Given the description of an element on the screen output the (x, y) to click on. 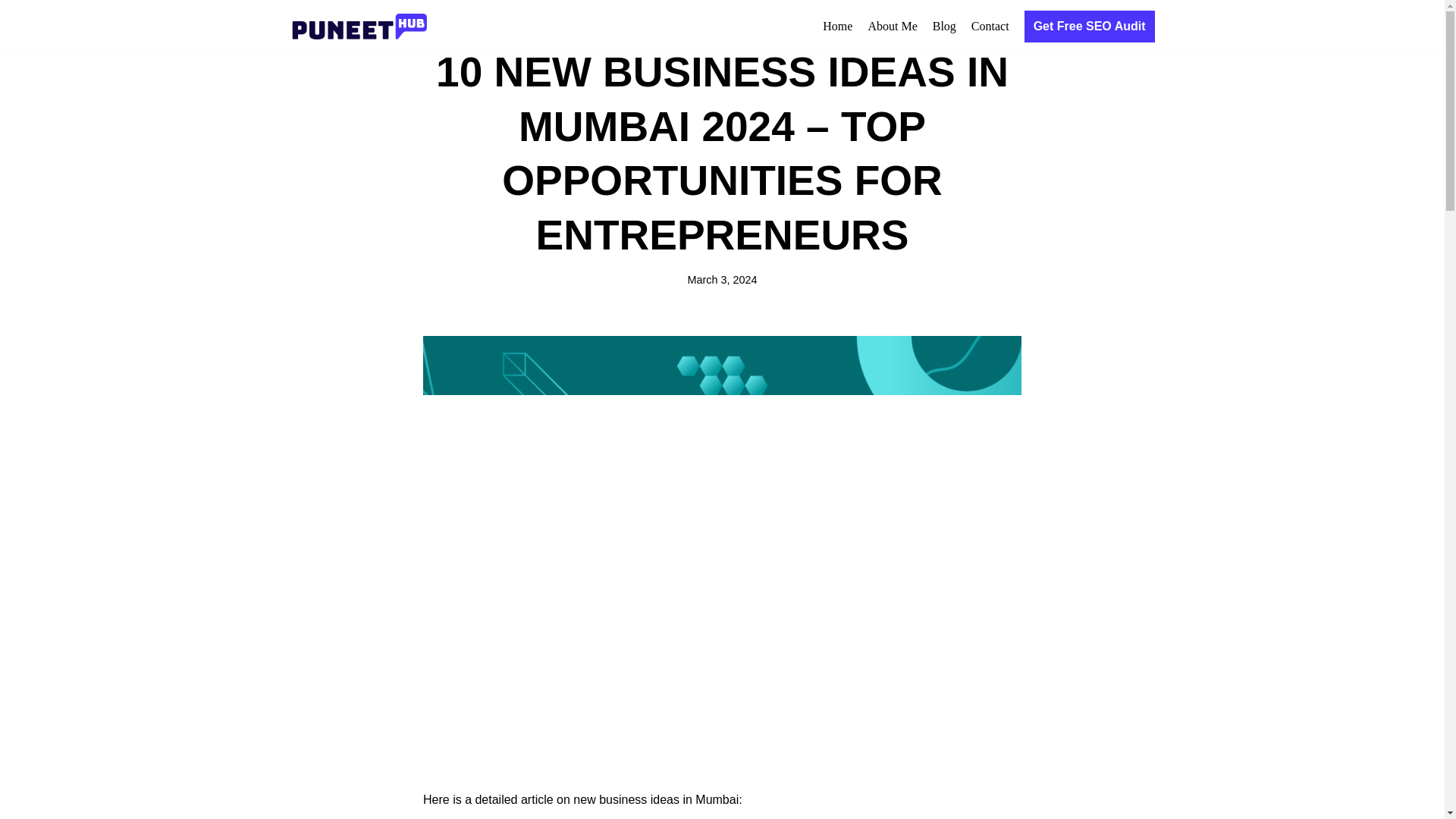
Get Free SEO Audit (1089, 26)
Skip to content (11, 31)
Contact (990, 26)
About Me (892, 26)
PuneetHub (361, 26)
Blog (944, 26)
Home (836, 26)
